Given the description of an element on the screen output the (x, y) to click on. 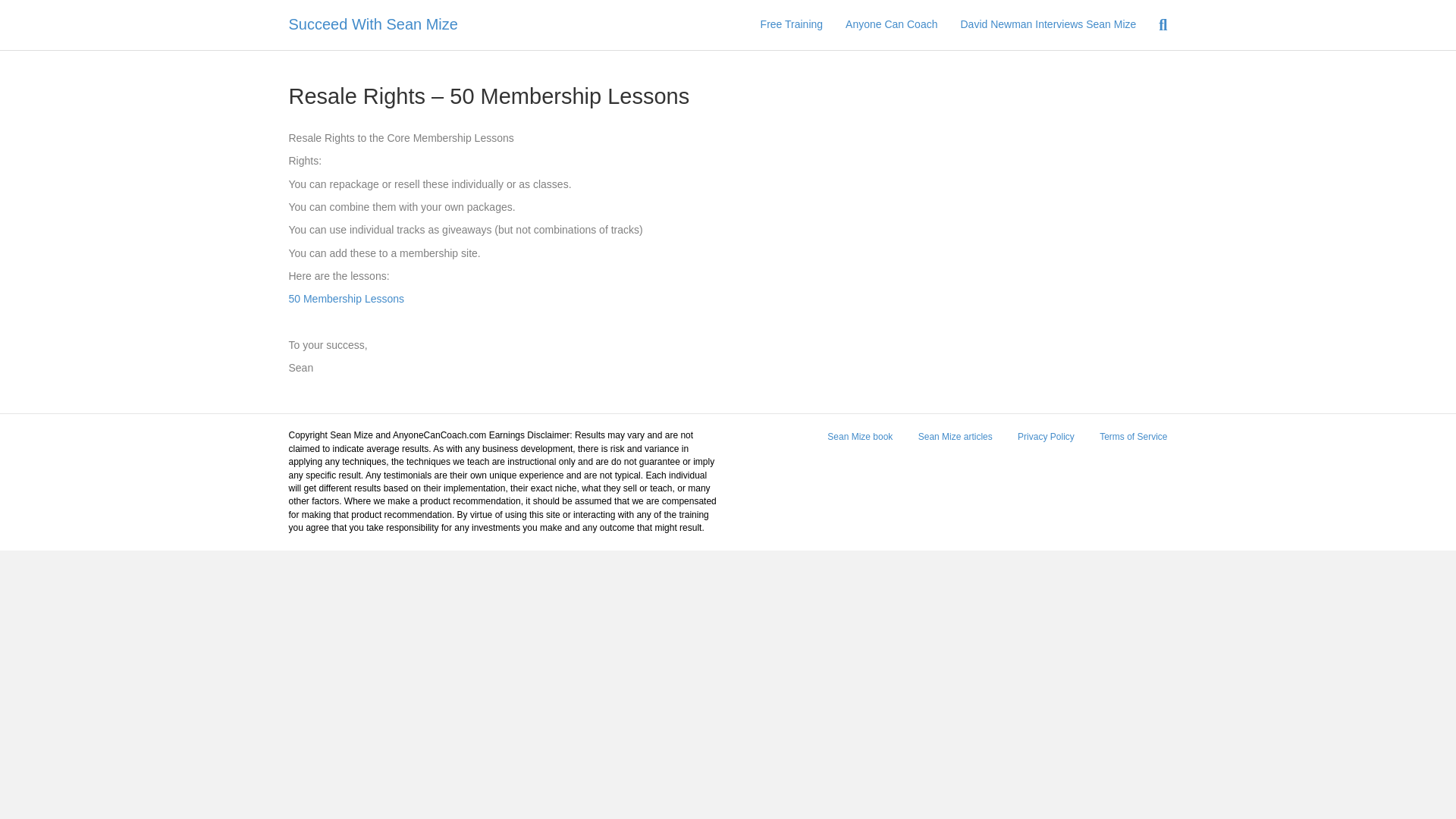
50 Membership Lessons (346, 298)
Privacy Policy (1046, 442)
David Newman Interviews Sean Mize (1048, 24)
Anyone Can Coach (891, 24)
Sean Mize articles (955, 442)
Terms of Service (1132, 442)
Sean Mize book (859, 442)
Free Training (791, 24)
Succeed With Sean Mize (428, 24)
